Given the description of an element on the screen output the (x, y) to click on. 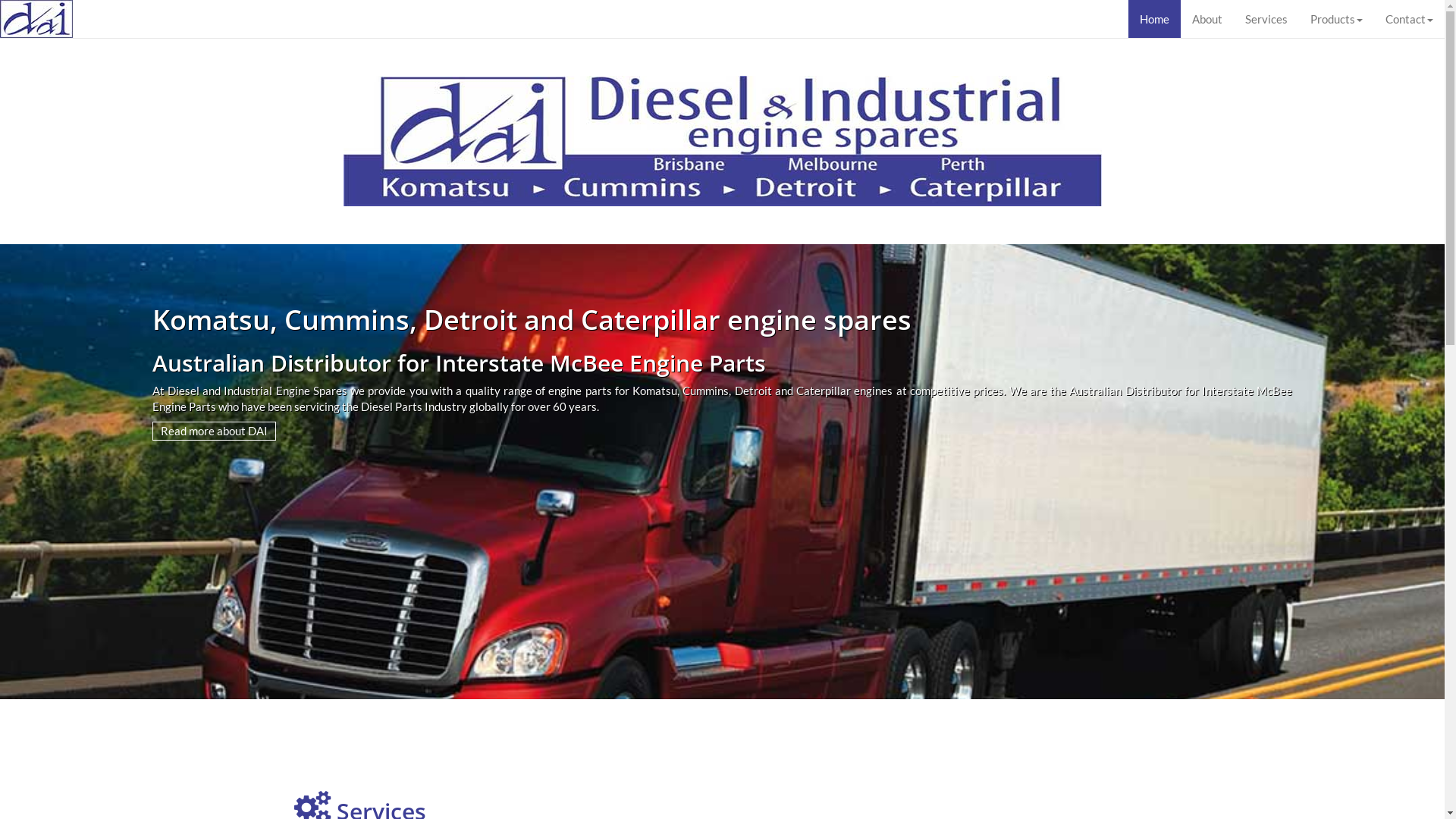
Diesel and Industrial Engine Spares Element type: hover (721, 140)
Read more about DAI Element type: text (213, 429)
Products Element type: text (1336, 18)
About Element type: text (1206, 18)
Home
(current) Element type: text (1154, 18)
Contact Element type: text (1409, 18)
Read more about DAI Element type: text (213, 430)
Services Element type: text (1266, 18)
